Given the description of an element on the screen output the (x, y) to click on. 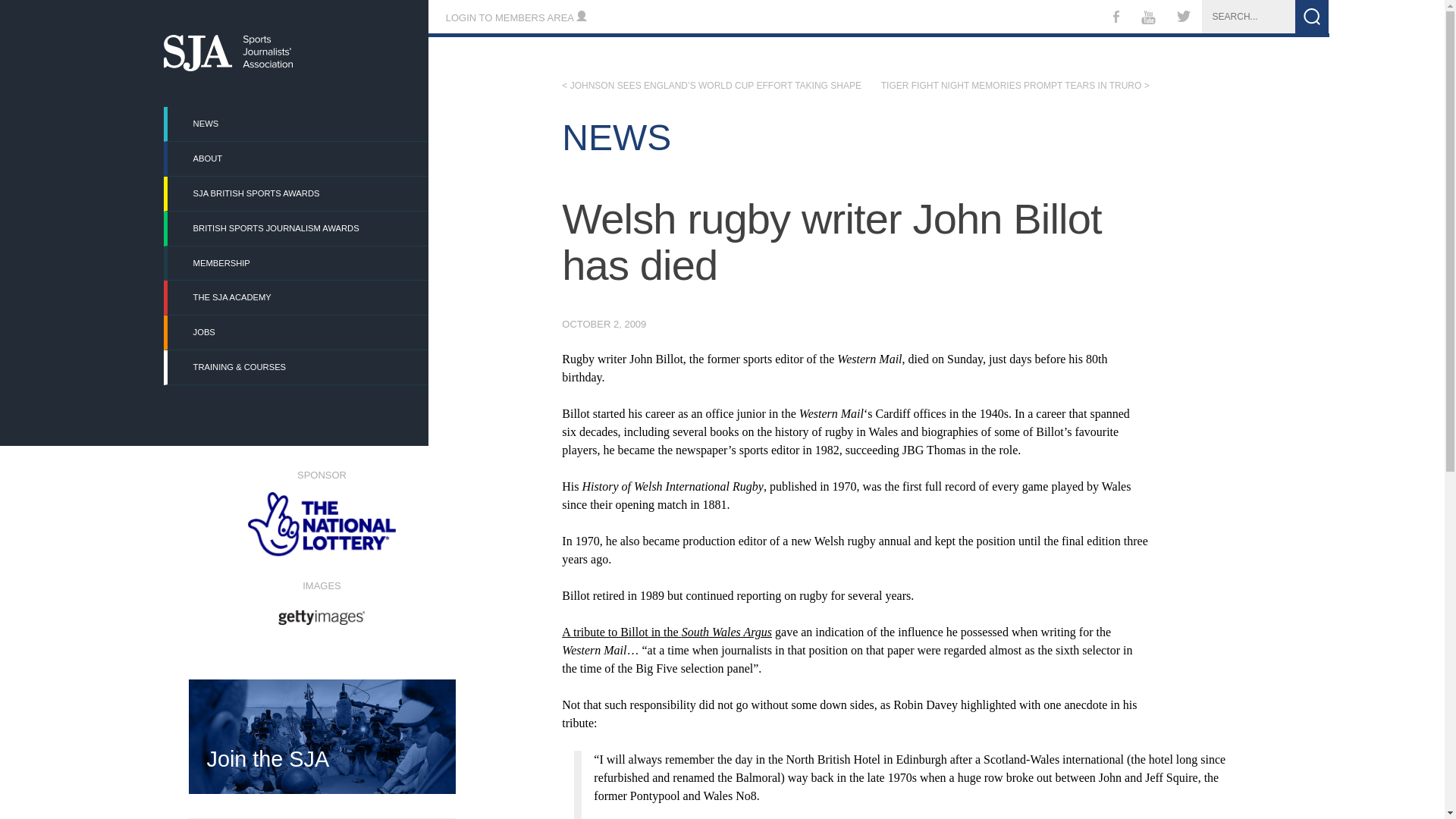
AIPS page (588, 609)
THE SJA ACADEMY (297, 297)
SPONSOR (320, 513)
LOGIN TO MEMBERS AREA (514, 18)
Twitter (1184, 18)
AFFILIATE (588, 609)
YouTube (1147, 19)
BRITISH SPORTS JOURNALISM AWARDS (297, 228)
Login to Members Area (514, 18)
ABOUT (297, 158)
IMAGES (320, 600)
JOBS (297, 332)
NEWS (297, 123)
A tribute to Billot in the South Wales Argus (666, 631)
OCTOBER 2, 2009 (604, 324)
